Given the description of an element on the screen output the (x, y) to click on. 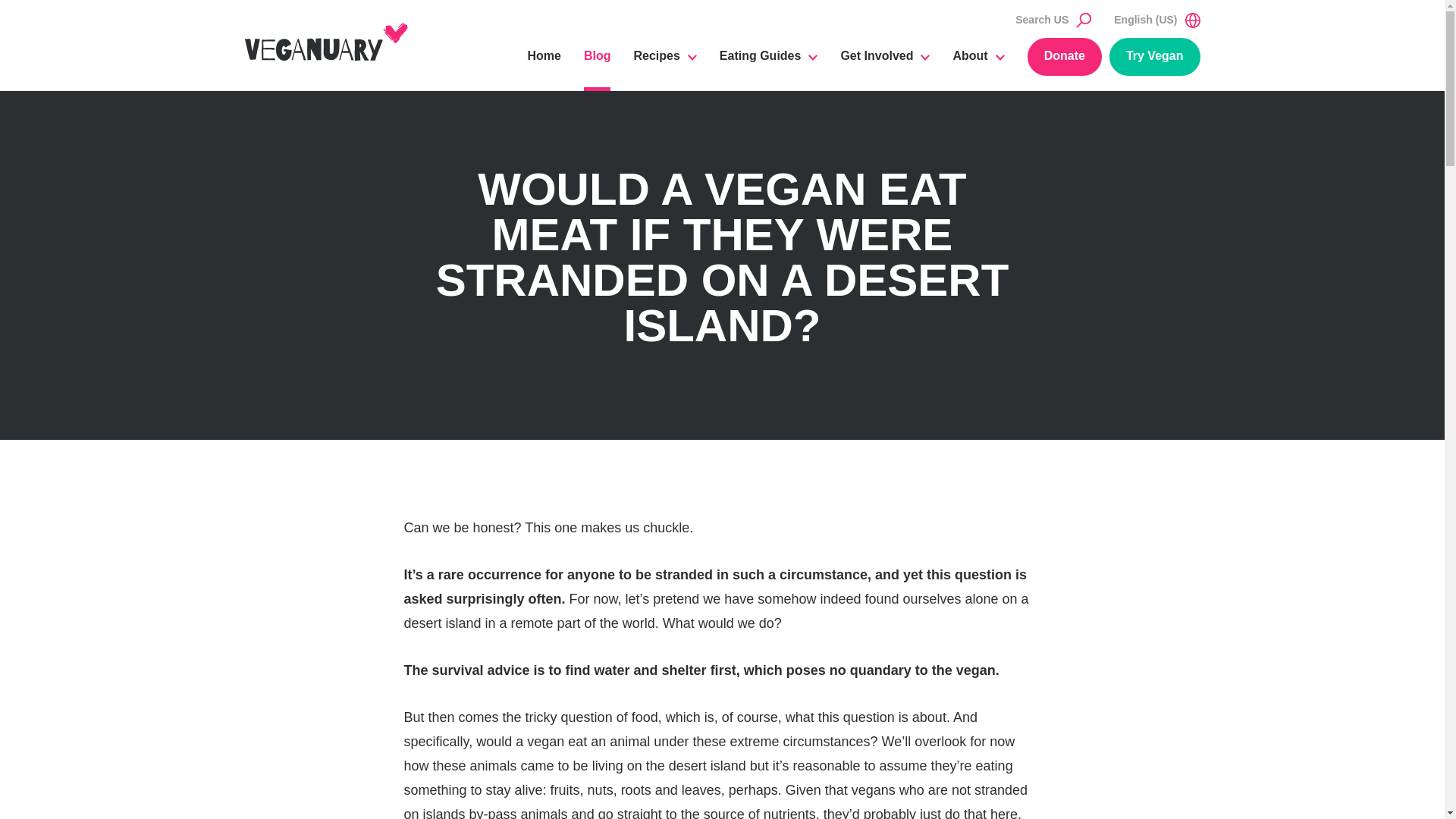
Donate (1064, 56)
Get Involved (885, 63)
Donate (1064, 56)
About (978, 63)
Recipes (664, 63)
Try Vegan (1154, 56)
Try Vegan (1154, 56)
Eating Guides (768, 63)
